Given the description of an element on the screen output the (x, y) to click on. 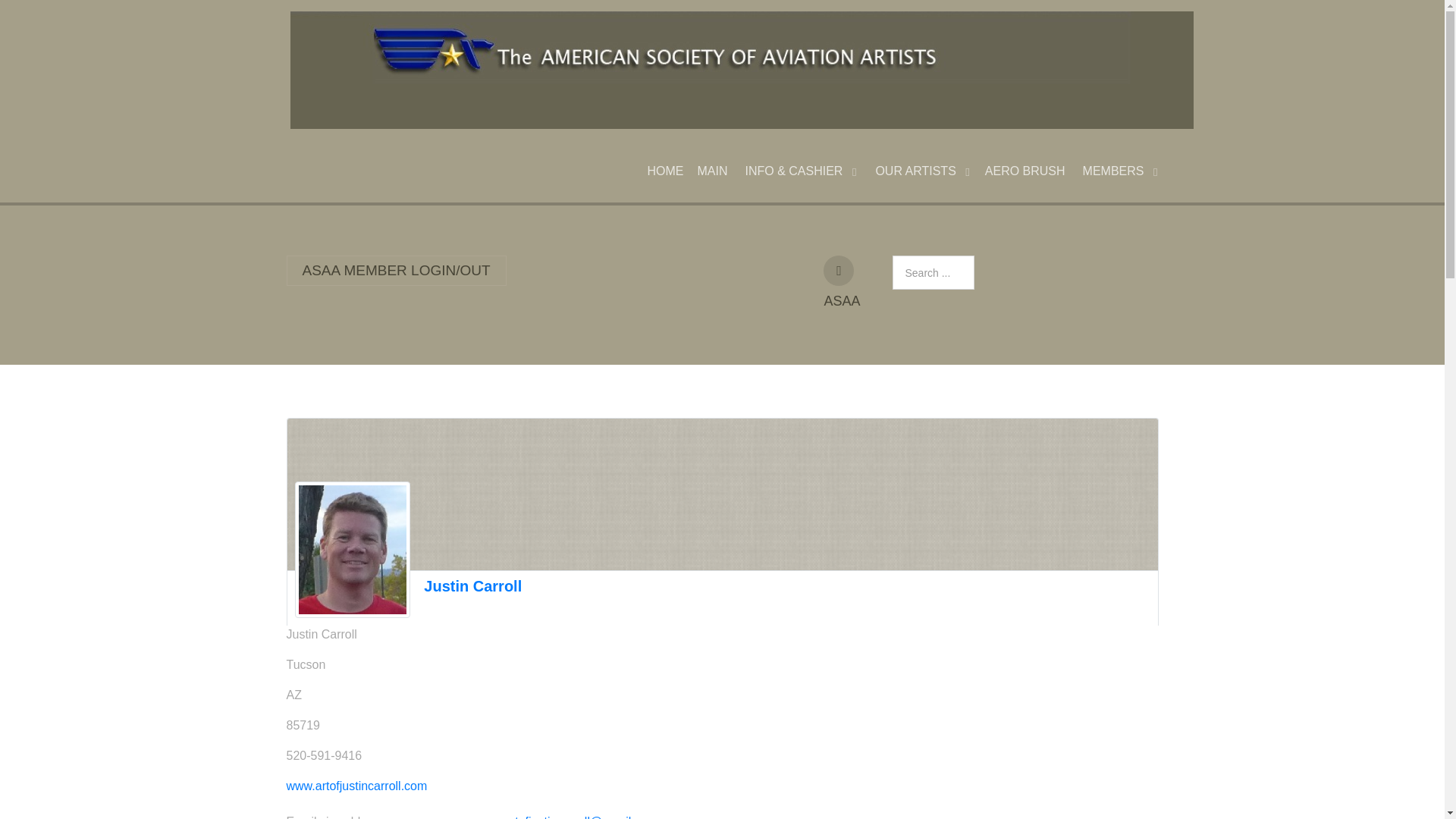
AERO BRUSH (1024, 170)
MEMBERS (1119, 170)
ASAA (838, 270)
OUR ARTISTS (920, 170)
www.artofjustincarroll.com (357, 785)
